Given the description of an element on the screen output the (x, y) to click on. 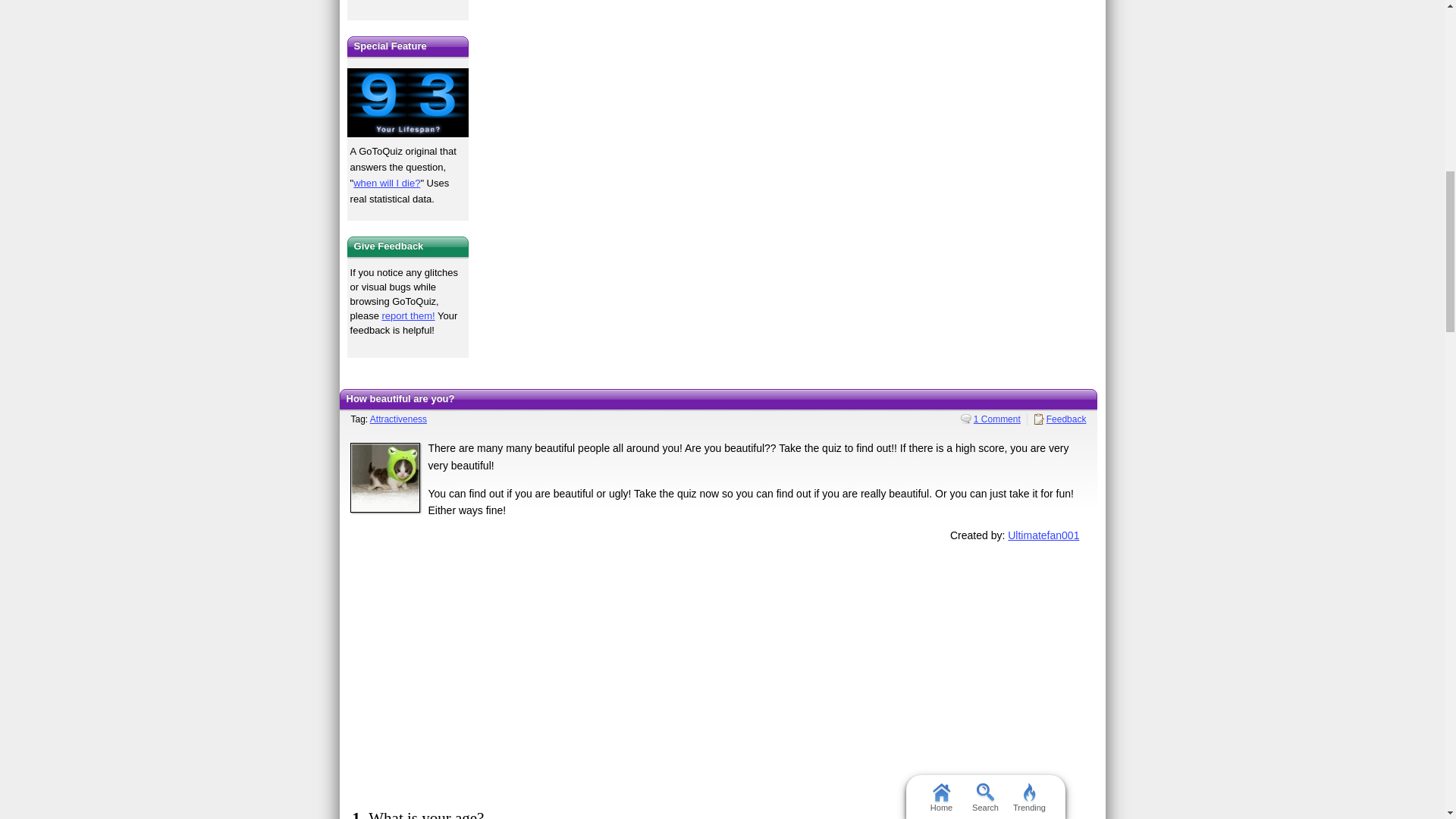
Feedback (1059, 419)
when will I die? (386, 183)
Ultimatefan001 (1042, 535)
Attractiveness (407, 2)
Try our lifespan calculator (407, 102)
Advertisement (718, 672)
1 Comment (990, 419)
Attractiveness (397, 419)
report them! (408, 315)
